Given the description of an element on the screen output the (x, y) to click on. 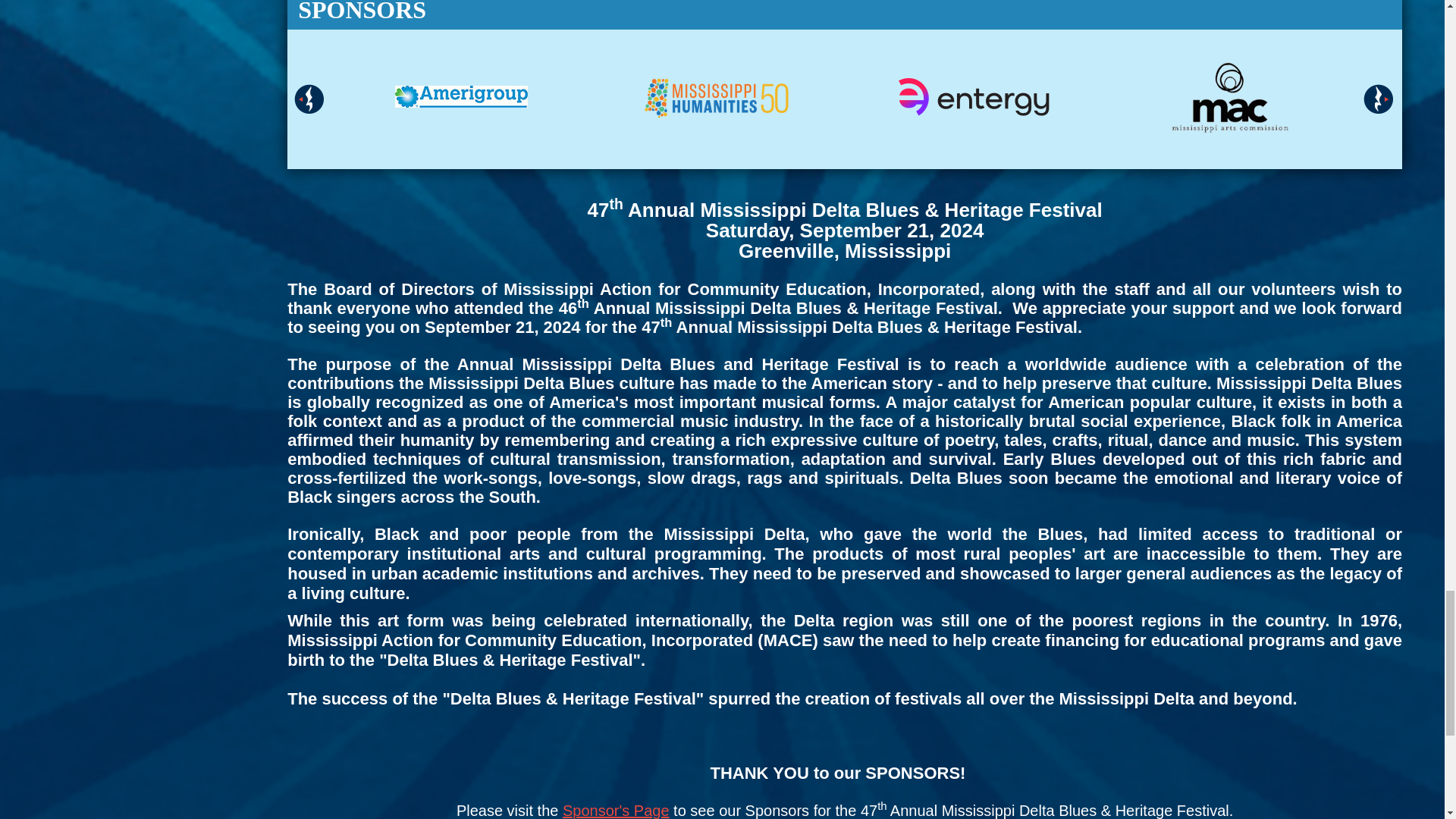
Sponsor's Page (615, 810)
